Given the description of an element on the screen output the (x, y) to click on. 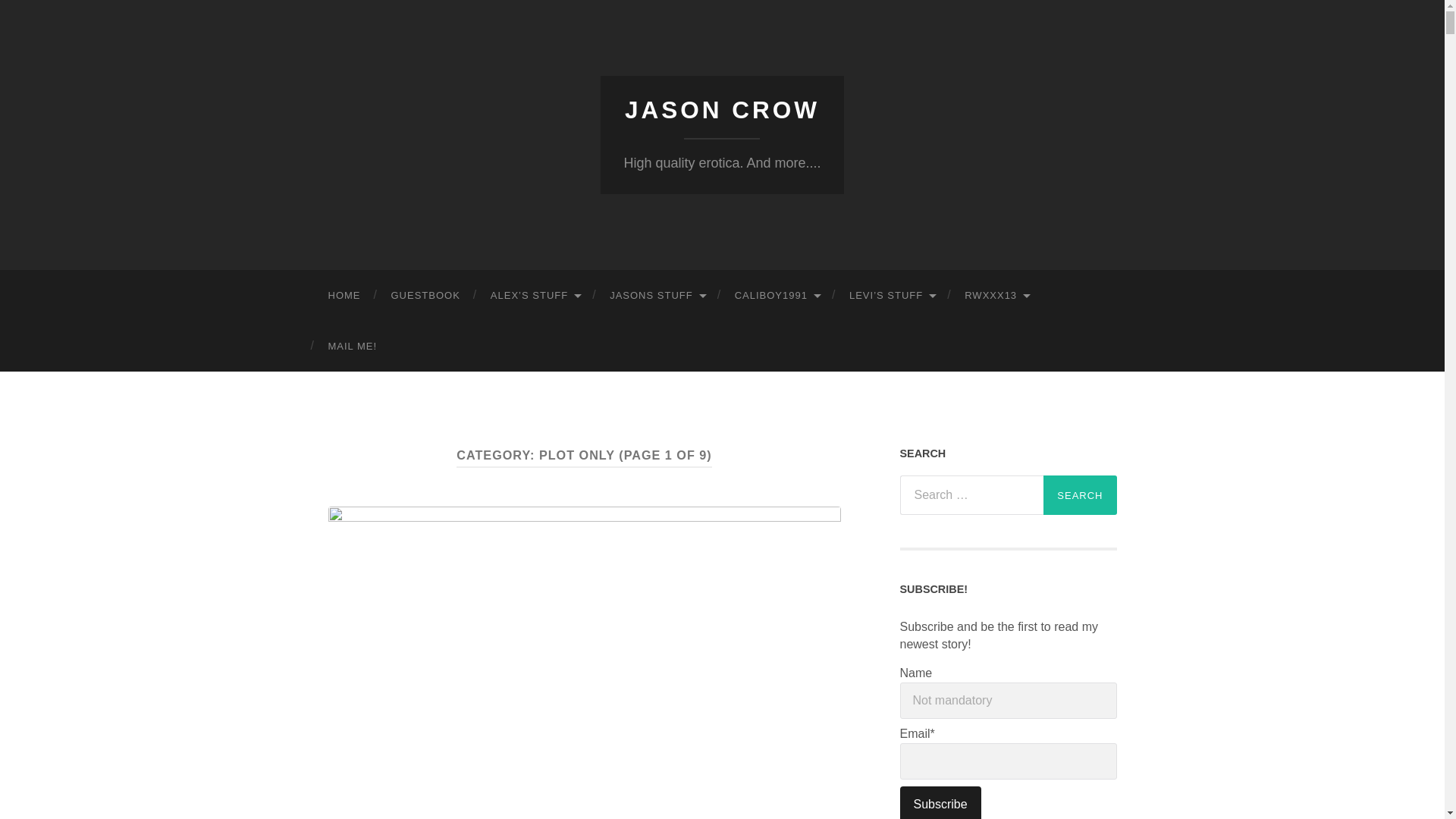
Search (1079, 495)
Subscribe (939, 802)
HOME (344, 295)
JASONS STUFF (656, 295)
JASON CROW (721, 109)
Search (1079, 495)
GUESTBOOK (425, 295)
